Given the description of an element on the screen output the (x, y) to click on. 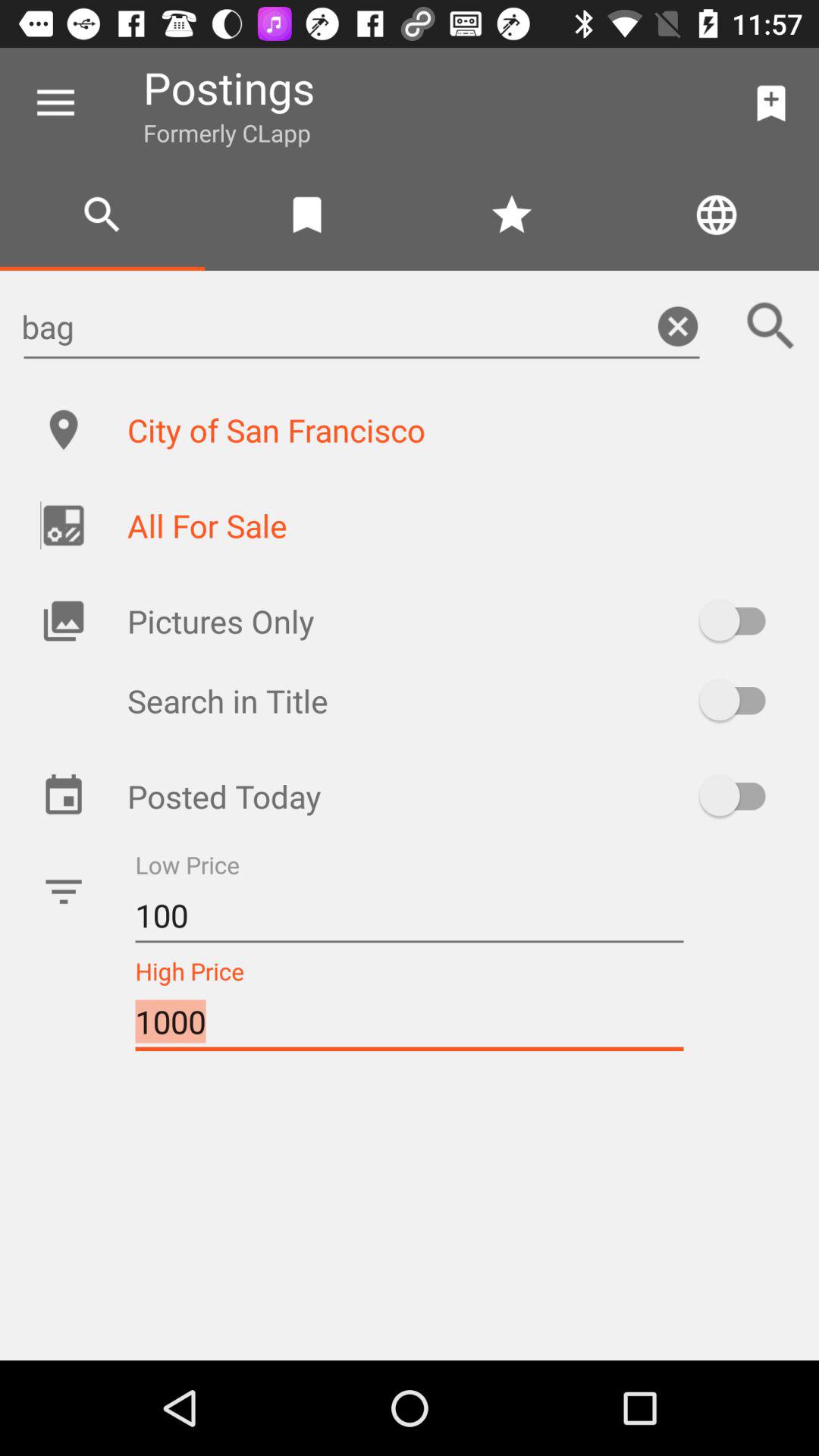
turn on the icon next to the bag (771, 326)
